Given the description of an element on the screen output the (x, y) to click on. 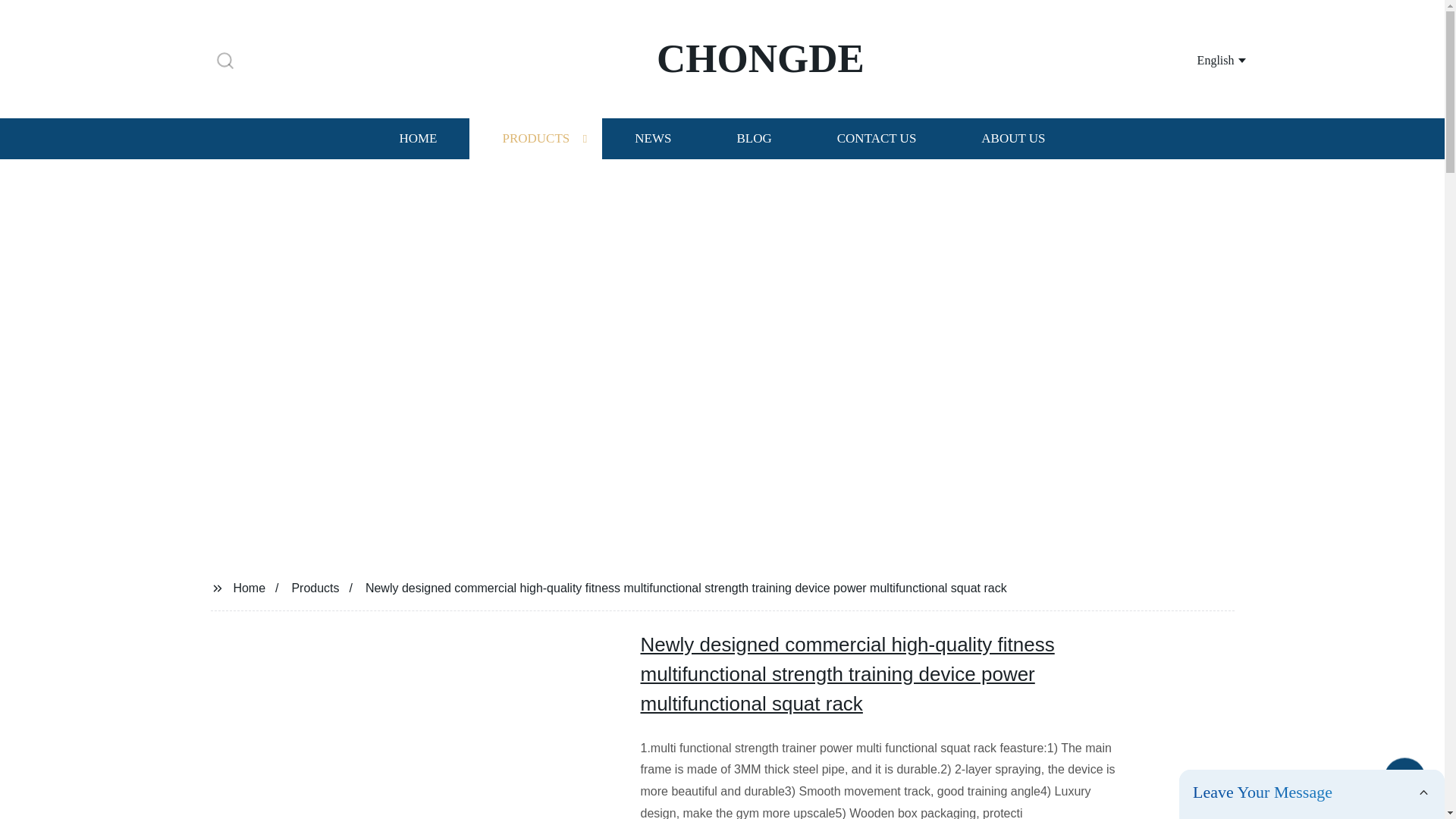
Top (1404, 779)
English (1203, 59)
HOME (417, 137)
Home (248, 586)
ABOUT US (1013, 137)
CONTACT US (877, 137)
Products (315, 586)
PRODUCTS (535, 137)
English (1203, 59)
BLOG (753, 137)
